Given the description of an element on the screen output the (x, y) to click on. 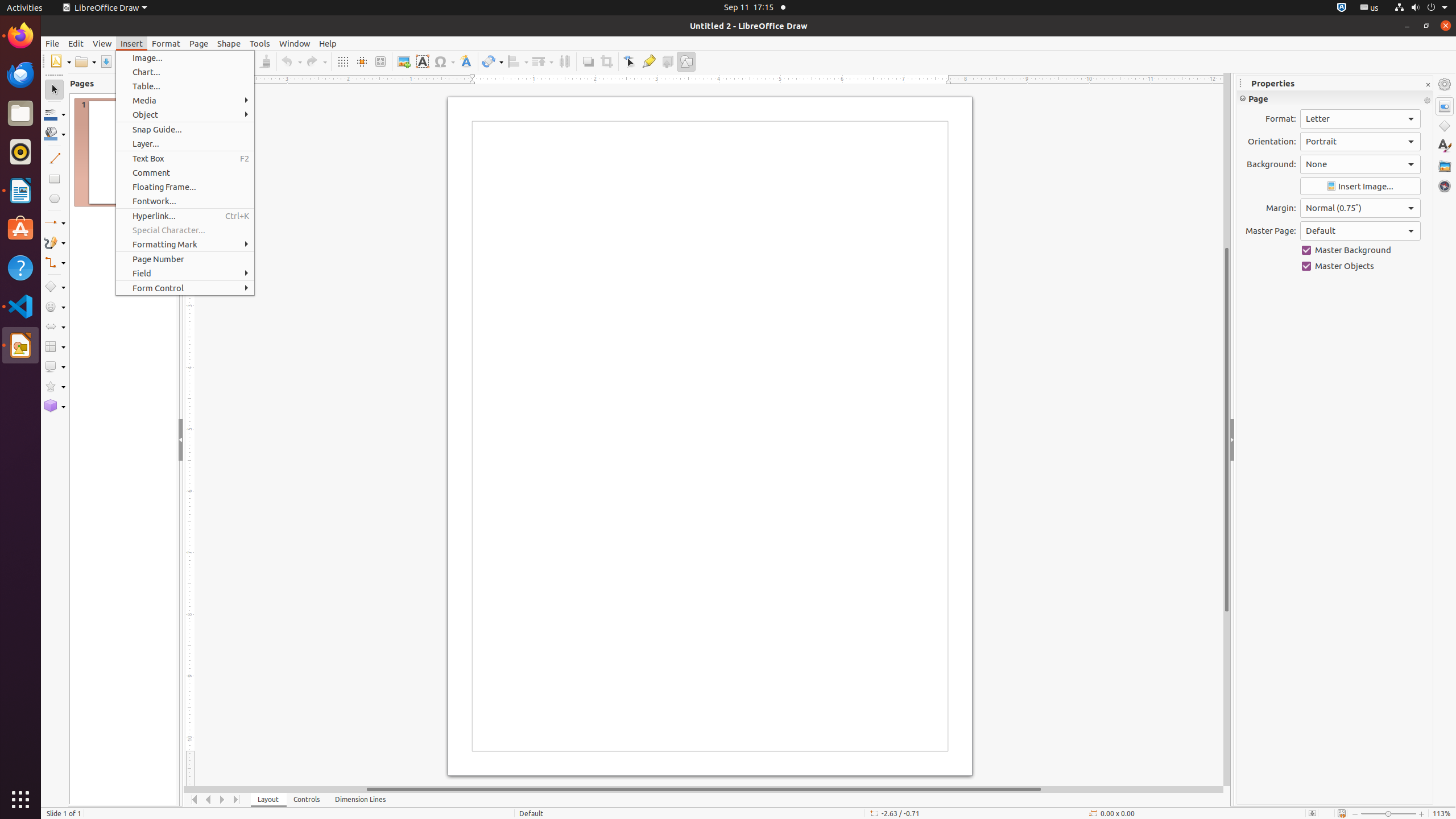
Comment Element type: menu-item (185, 172)
Undo Element type: push-button (290, 61)
Help Element type: push-button (20, 267)
Grid Element type: toggle-button (342, 61)
Move To Home Element type: push-button (194, 799)
